Given the description of an element on the screen output the (x, y) to click on. 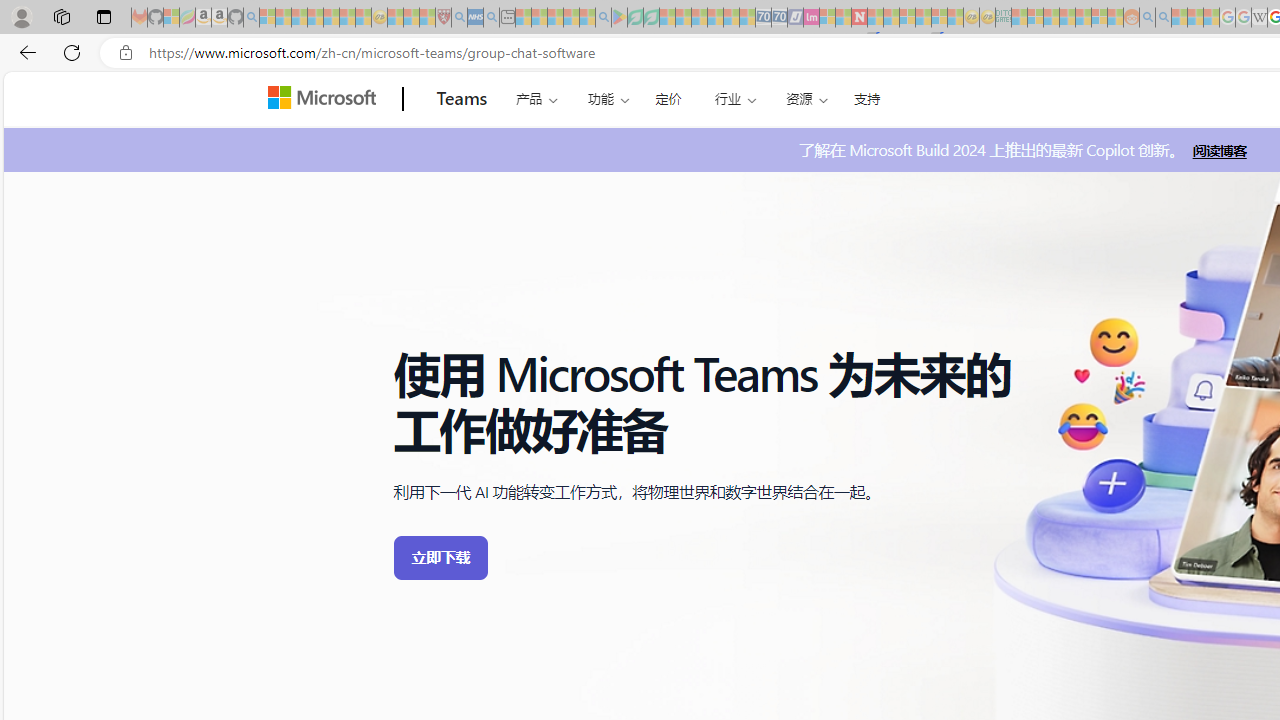
Jobs - lastminute.com Investor Portal - Sleeping (811, 17)
New Report Confirms 2023 Was Record Hot | Watch - Sleeping (331, 17)
The Weather Channel - MSN - Sleeping (299, 17)
DITOGAMES AG Imprint - Sleeping (1003, 17)
google - Search - Sleeping (603, 17)
